Given the description of an element on the screen output the (x, y) to click on. 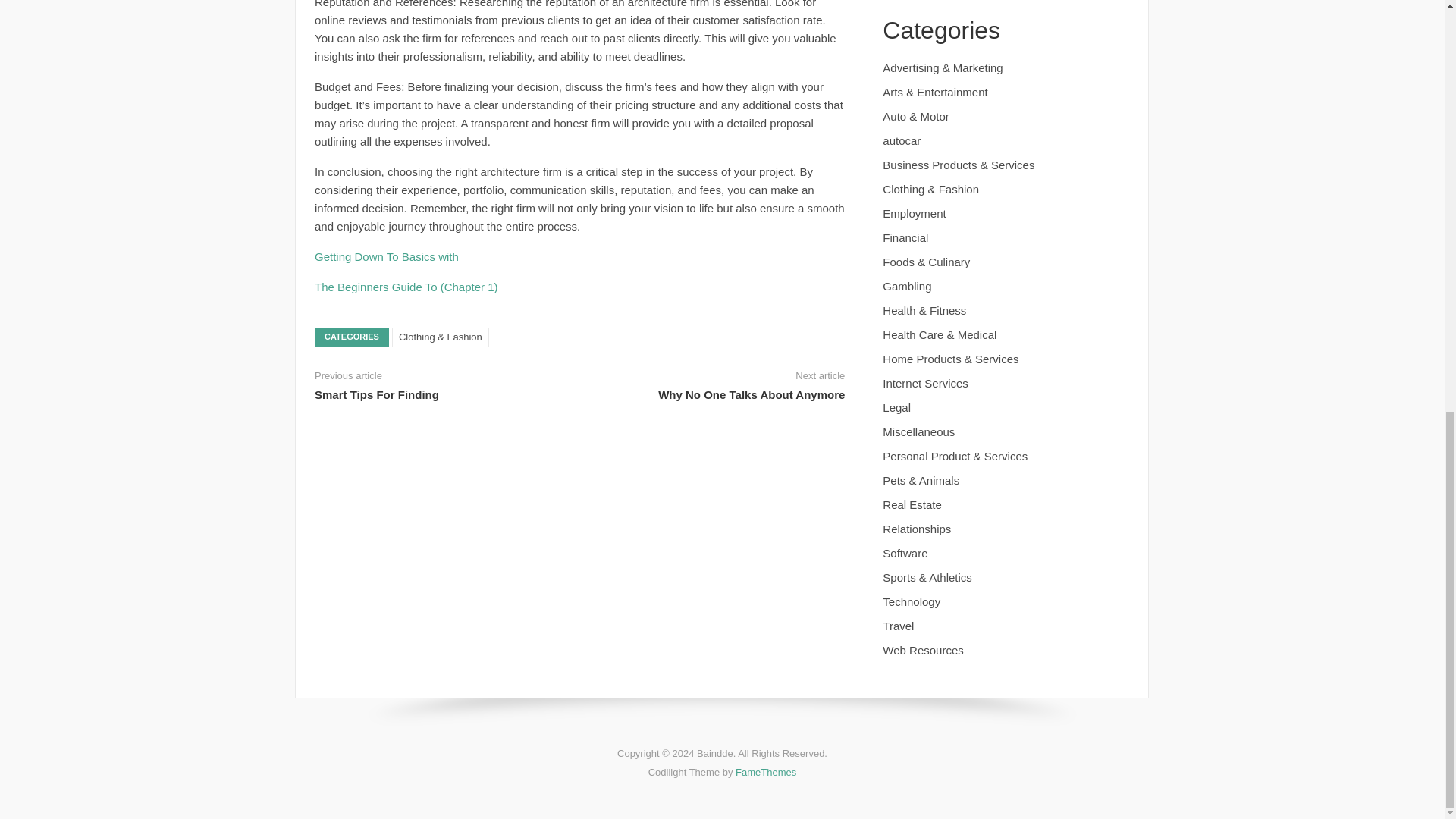
Smart Tips For Finding (376, 394)
Why No One Talks About Anymore (751, 394)
Getting Down To Basics with (386, 256)
Employment (913, 213)
autocar (901, 140)
Financial (905, 237)
Gambling (906, 286)
